Given the description of an element on the screen output the (x, y) to click on. 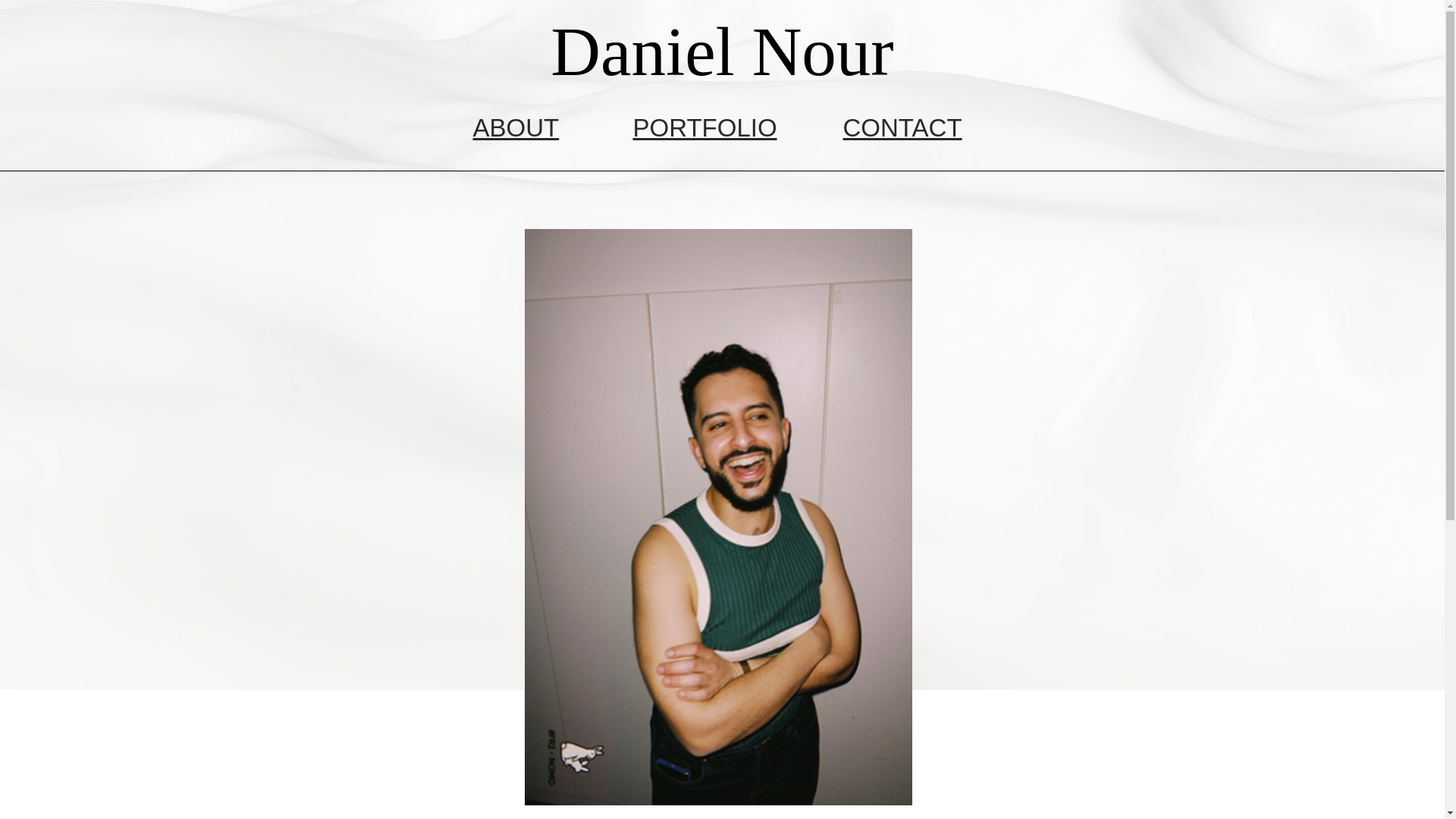
ABOUT (516, 127)
PORTFOLIO (703, 127)
CONTACT (902, 127)
